Given the description of an element on the screen output the (x, y) to click on. 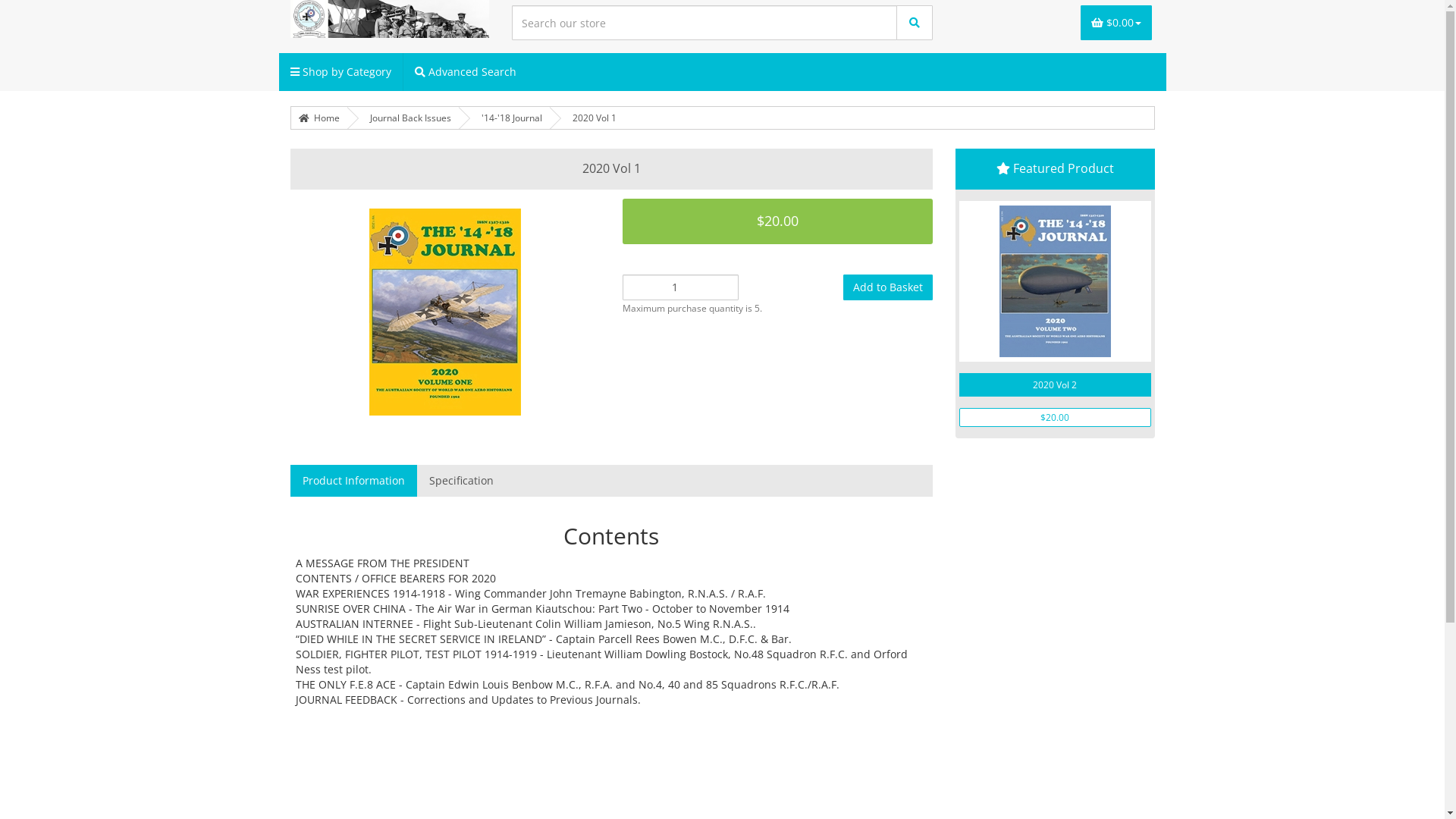
Add to Basket Element type: text (887, 287)
Product Information Element type: text (352, 480)
2020 Vol 2 Element type: text (1055, 384)
Shop by Category Element type: text (341, 72)
Specification Element type: text (461, 480)
Advanced Search Element type: text (465, 72)
Journal Back Issues Element type: text (410, 117)
Search Element type: text (914, 22)
'14-'18 Journal Element type: text (511, 117)
$0.00 Element type: text (1115, 22)
2020 Vol 1 Element type: text (593, 117)
2020 Vol 2 Element type: hover (1054, 281)
 Home Element type: text (319, 117)
